Given the description of an element on the screen output the (x, y) to click on. 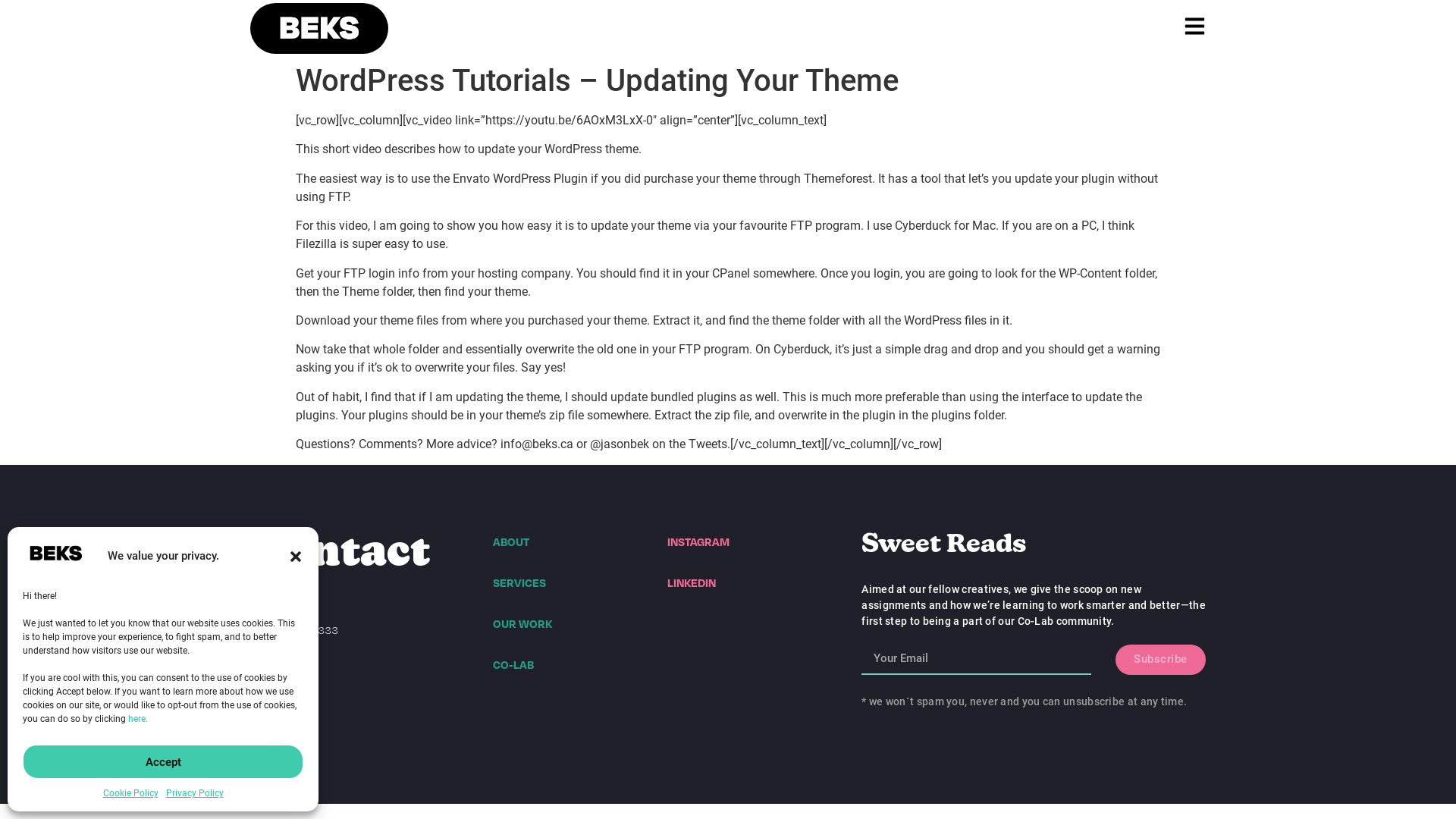
here. Element type: text (137, 718)
Accept Element type: text (162, 761)
info@beks.ca Element type: text (284, 670)
LINKEDIN Element type: text (691, 582)
Privacy Policy Element type: text (193, 793)
OUR WORK Element type: text (522, 623)
SERVICES Element type: text (519, 582)
ABOUT Element type: text (510, 541)
CO-LAB Element type: text (512, 664)
+1 587 735 2333 Element type: text (294, 629)
Cookie Policy Element type: text (130, 793)
INSTAGRAM Element type: text (698, 541)
Subscribe Element type: text (1160, 659)
